Given the description of an element on the screen output the (x, y) to click on. 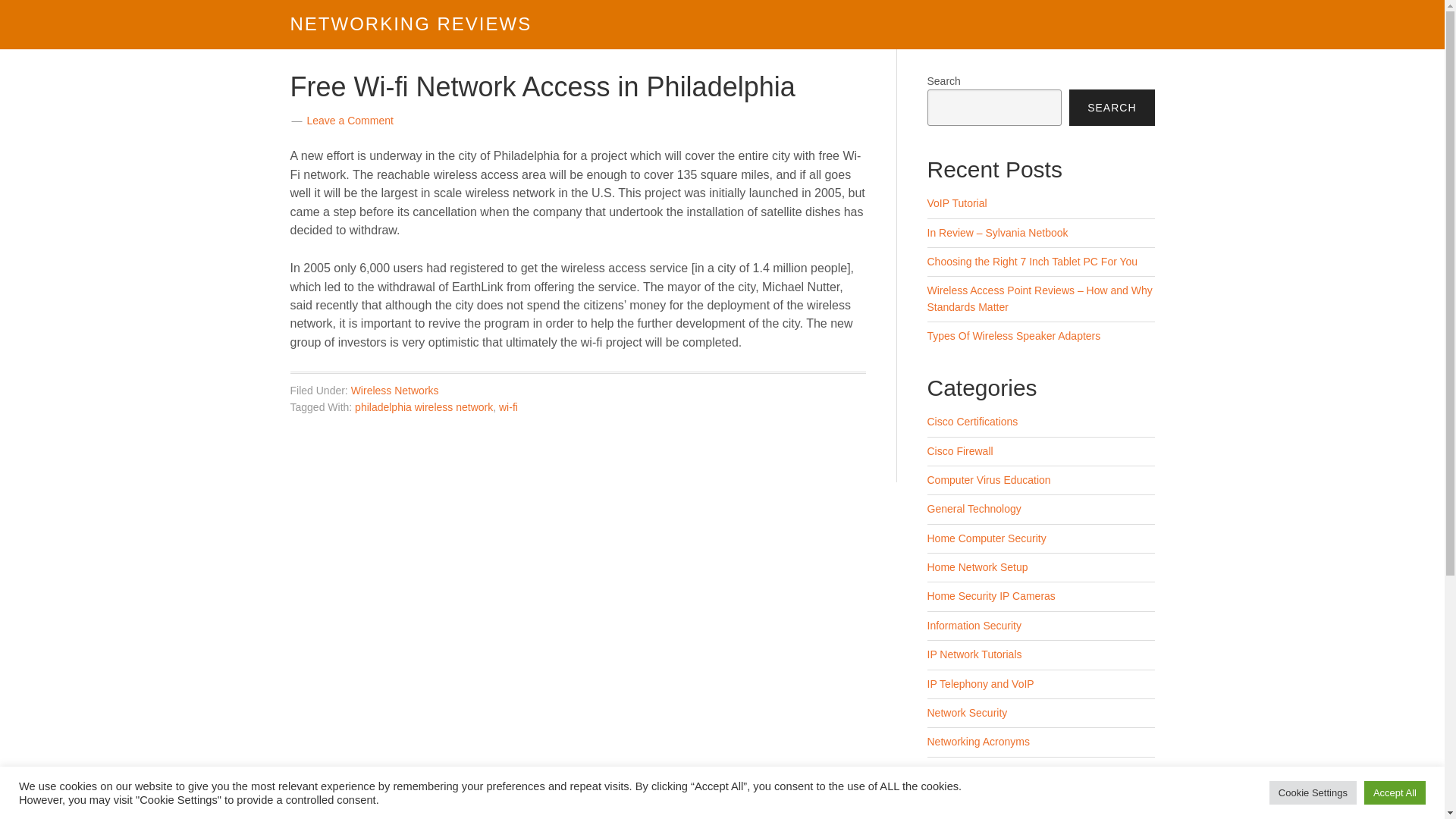
Leave a Comment (349, 120)
Networking Acronyms (977, 741)
wi-fi (508, 407)
Cookie Settings (1312, 792)
philadelphia wireless network (424, 407)
IP Telephony and VoIP (979, 684)
Software Tools (960, 799)
Information Security (974, 625)
SEARCH (1111, 107)
Choosing the Right 7 Inch Tablet PC For You (1031, 261)
Home Security IP Cameras (990, 595)
Accept All (1394, 792)
Home Computer Security (985, 538)
Home Network Setup (976, 567)
Network Security (966, 712)
